Given the description of an element on the screen output the (x, y) to click on. 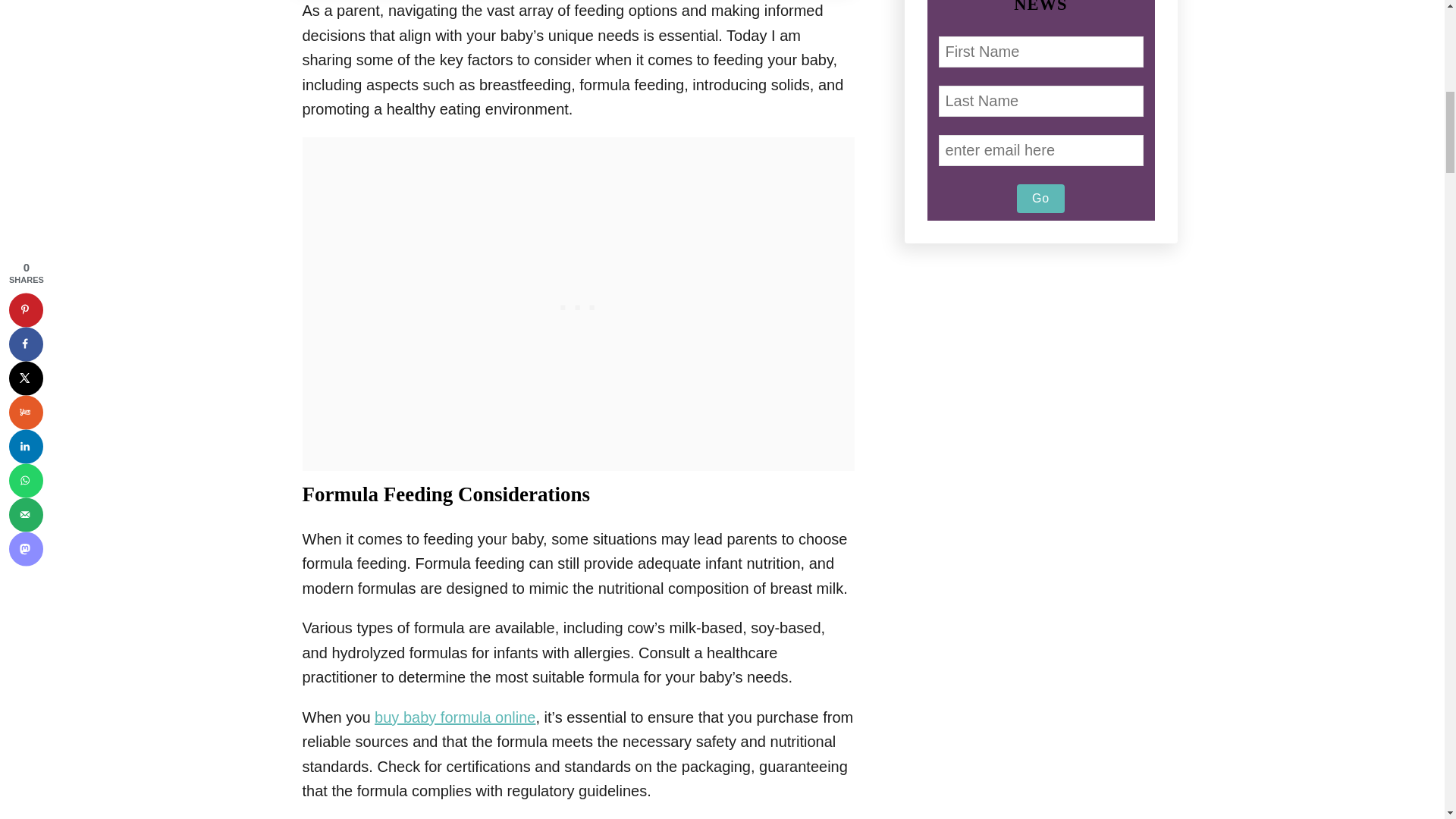
Go (1040, 198)
